Given the description of an element on the screen output the (x, y) to click on. 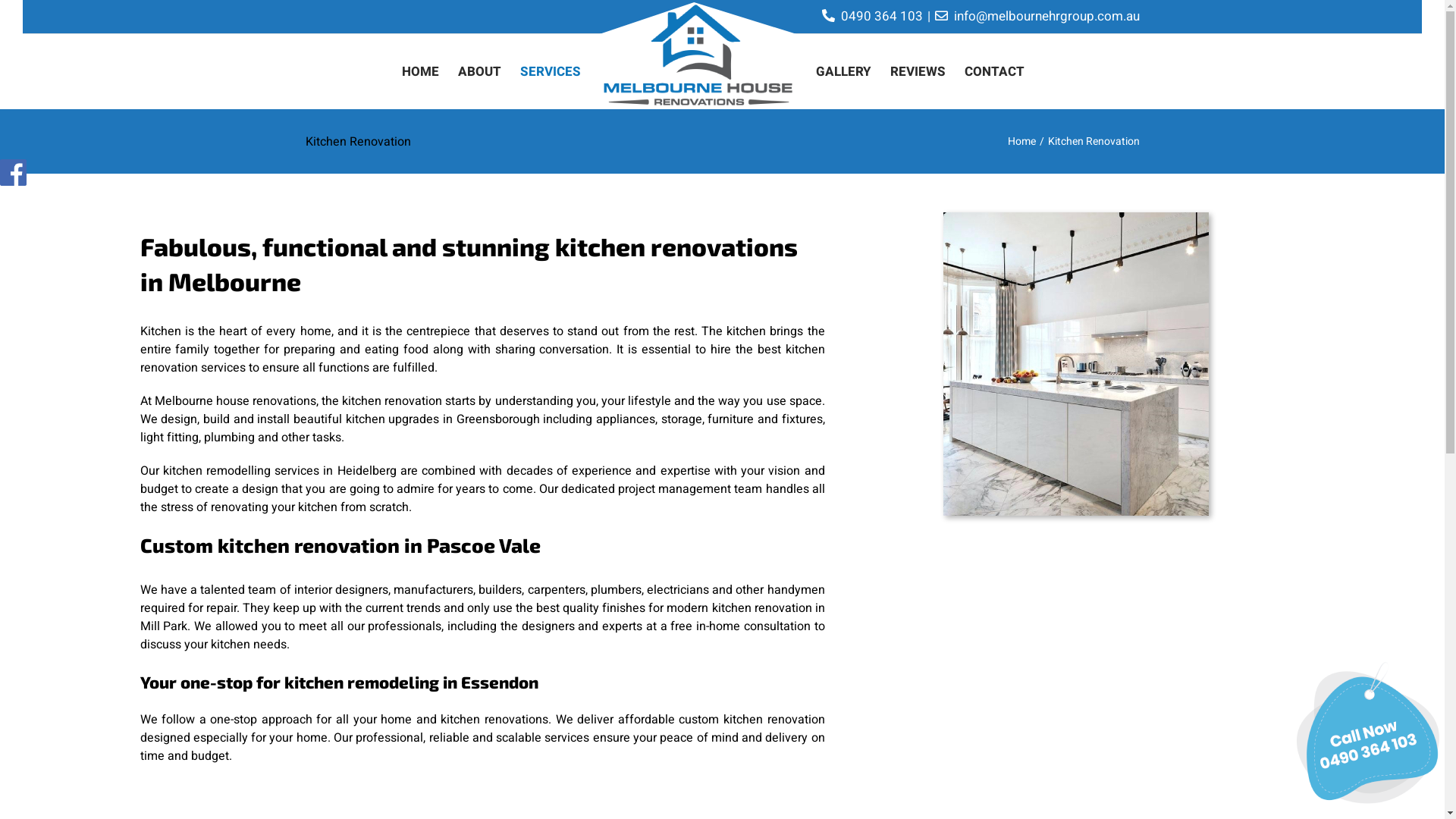
GALLERY Element type: text (843, 71)
Home Element type: text (1021, 141)
info@melbournehrgroup.com.au Element type: text (1044, 15)
HOME Element type: text (420, 71)
Kitchen Renovation Element type: hover (1075, 363)
REVIEWS Element type: text (917, 71)
CONTACT Element type: text (994, 71)
ABOUT Element type: text (479, 71)
0490 364 103 Element type: text (879, 15)
SERVICES Element type: text (550, 71)
